Given the description of an element on the screen output the (x, y) to click on. 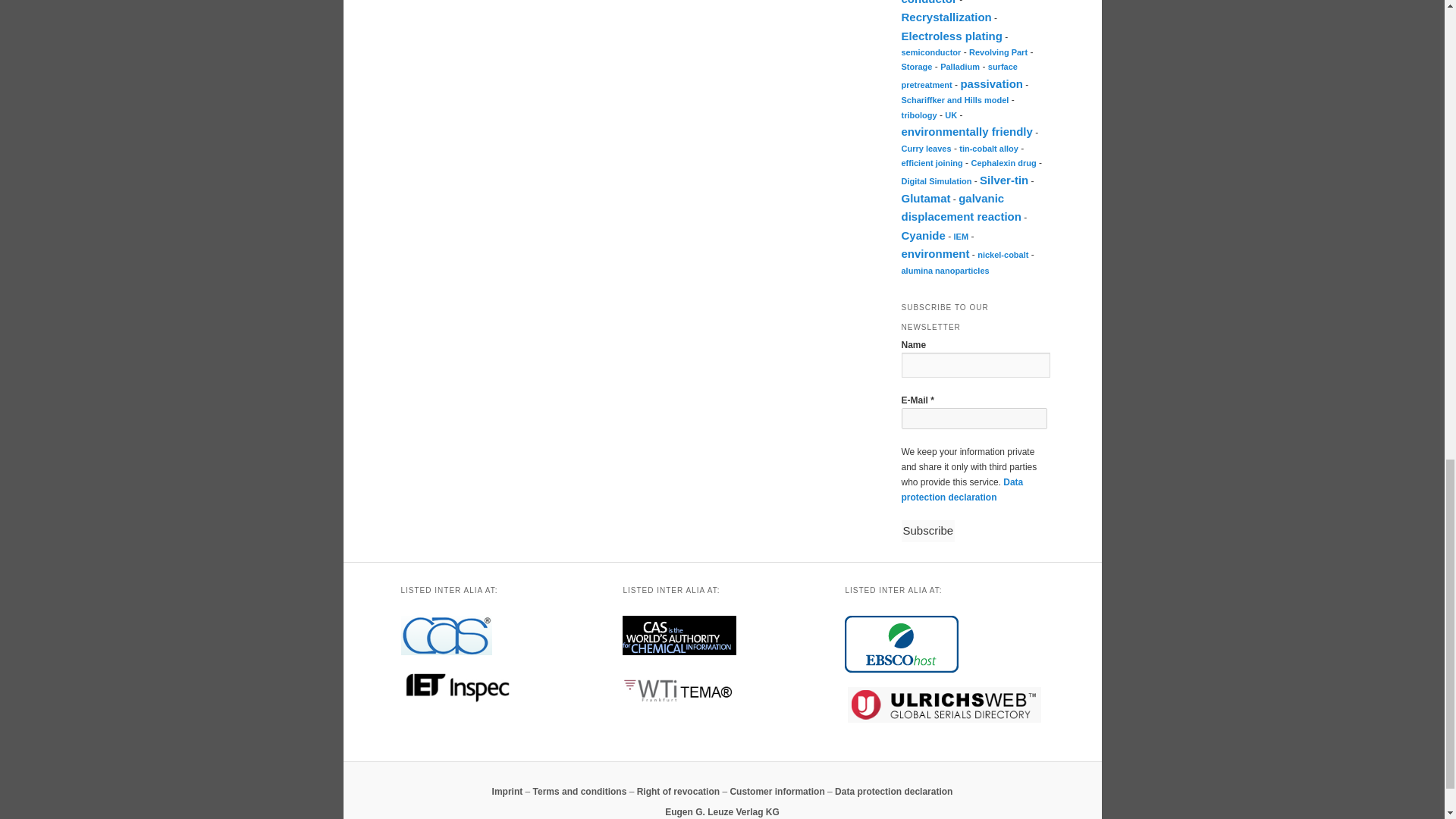
Subscribe (928, 530)
